Given the description of an element on the screen output the (x, y) to click on. 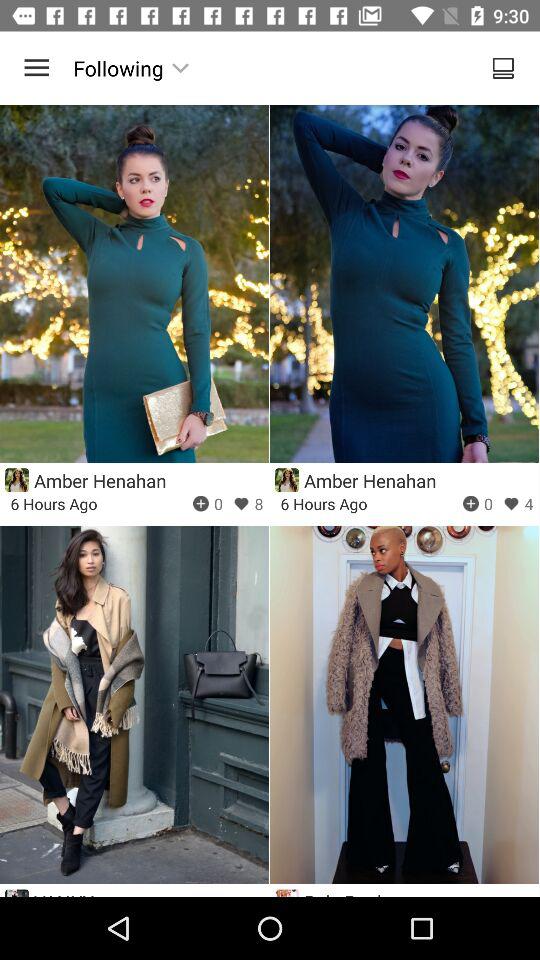
click to go to user 's profile (286, 479)
